Given the description of an element on the screen output the (x, y) to click on. 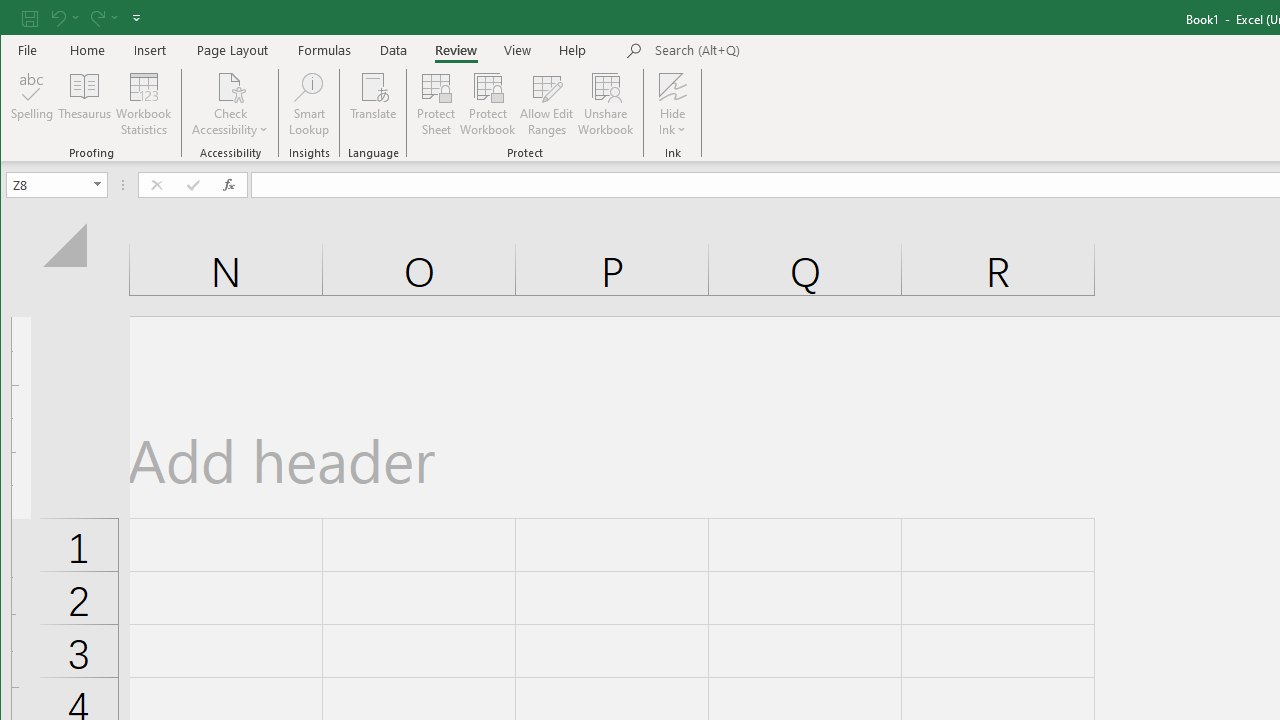
Unshare Workbook (606, 104)
Workbook Statistics (143, 104)
